Given the description of an element on the screen output the (x, y) to click on. 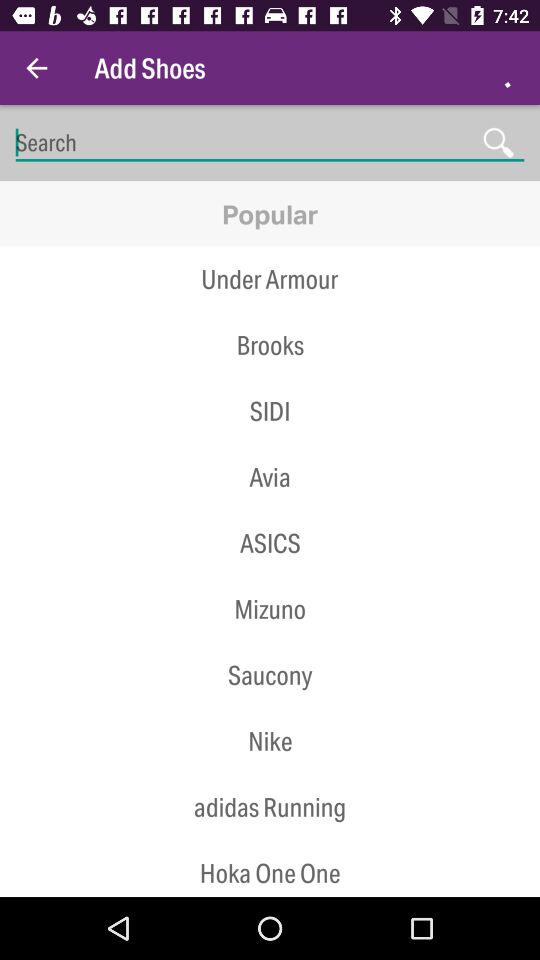
turn on hoka one one (270, 868)
